Given the description of an element on the screen output the (x, y) to click on. 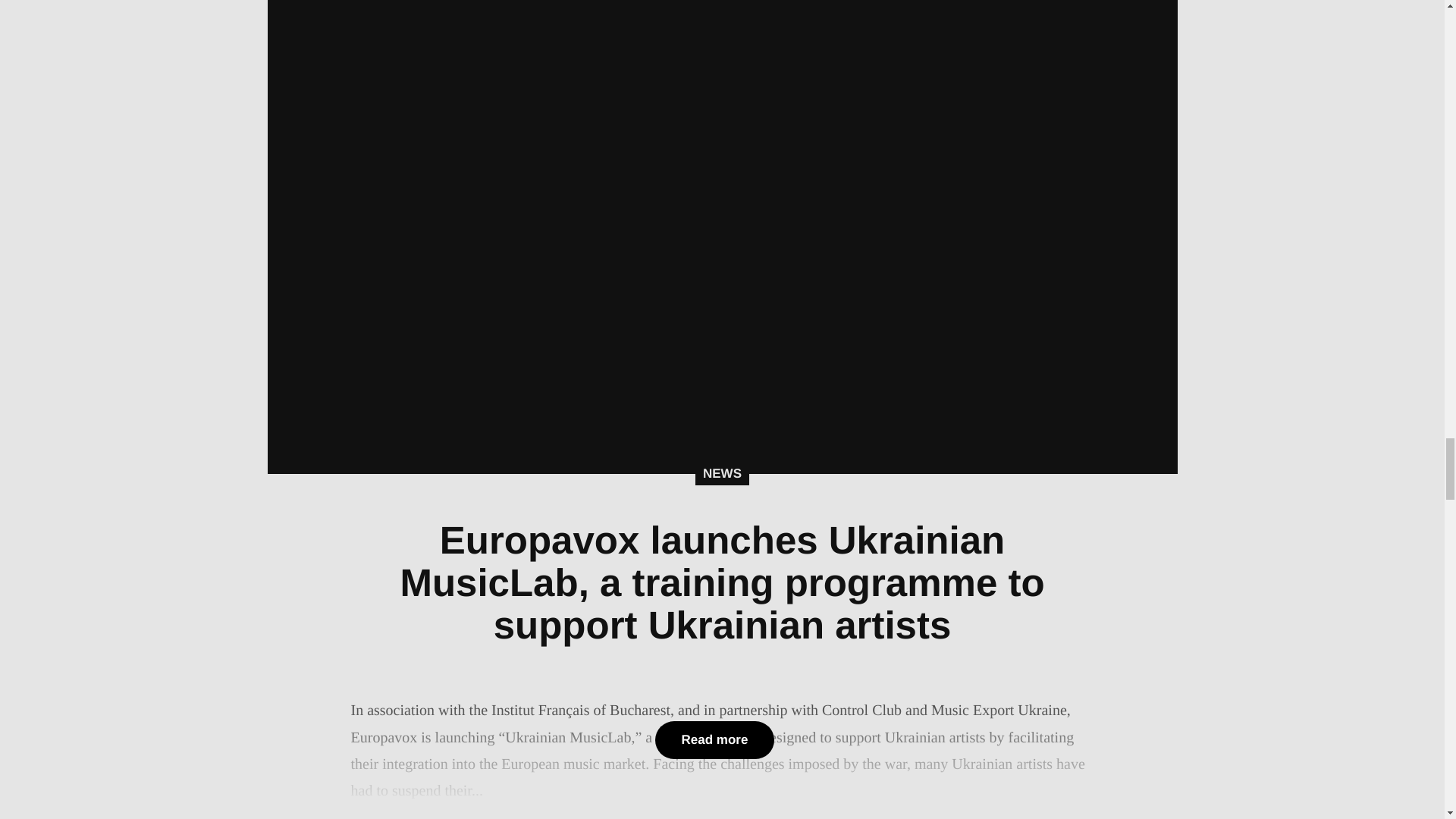
NEWS (722, 473)
